Given the description of an element on the screen output the (x, y) to click on. 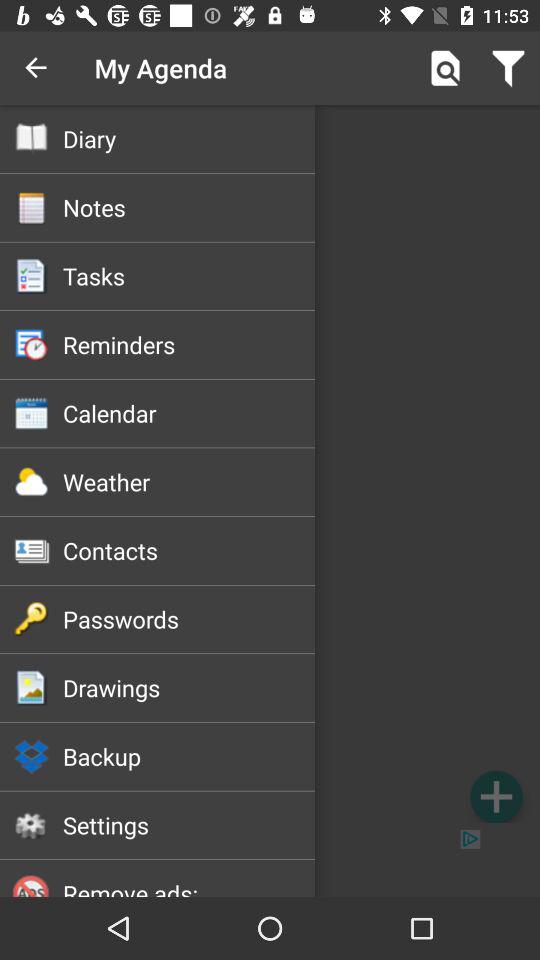
add a agenda option (496, 796)
